Given the description of an element on the screen output the (x, y) to click on. 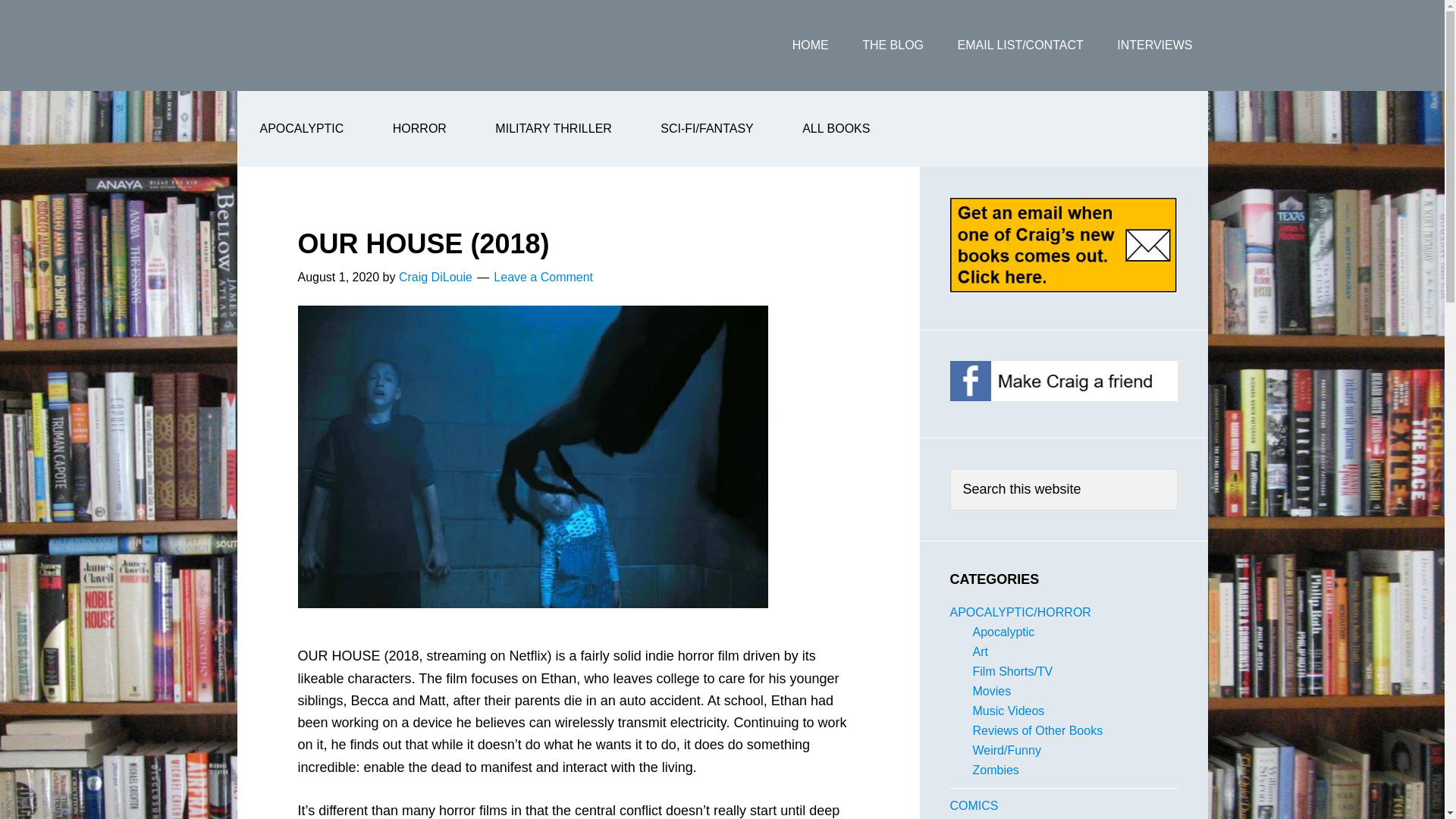
Art (979, 651)
Movies (991, 690)
Reviews of Other Books (1037, 730)
Zombies (994, 769)
APOCALYPTIC (300, 128)
ALL BOOKS (835, 128)
COMICS (973, 805)
THE BLOG (893, 45)
INTERVIEWS (1154, 45)
